Given the description of an element on the screen output the (x, y) to click on. 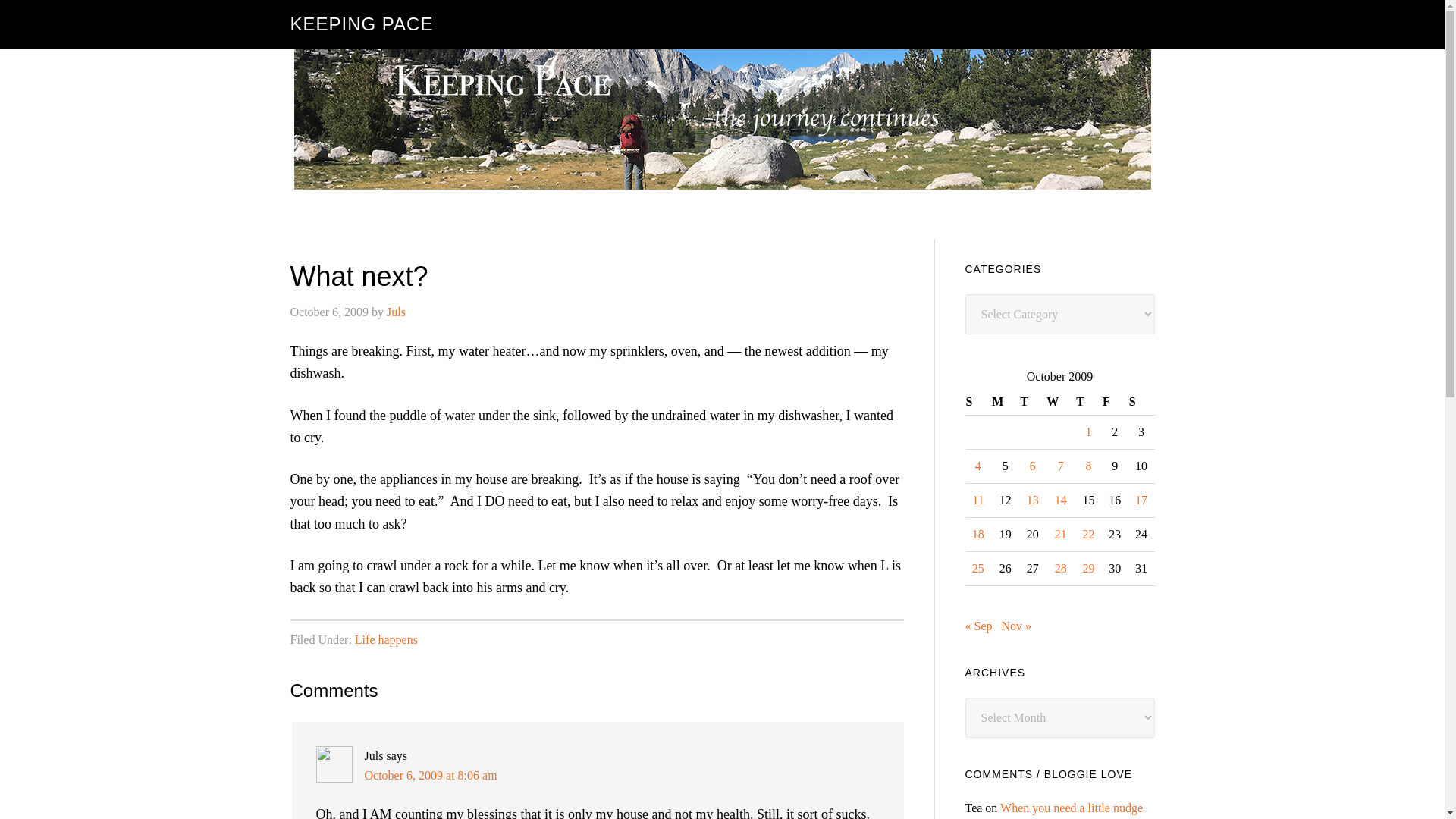
29 (1088, 567)
Saturday (1141, 402)
25 (978, 567)
22 (1088, 533)
Juls (396, 311)
13 (1032, 499)
14 (1060, 499)
Tuesday (1032, 402)
Sunday (977, 402)
KEEPING PACE (360, 23)
When you need a little nudge to get going (1052, 810)
Friday (1115, 402)
October 6, 2009 at 8:06 am (430, 775)
Life happens (386, 639)
Wednesday (1060, 402)
